Given the description of an element on the screen output the (x, y) to click on. 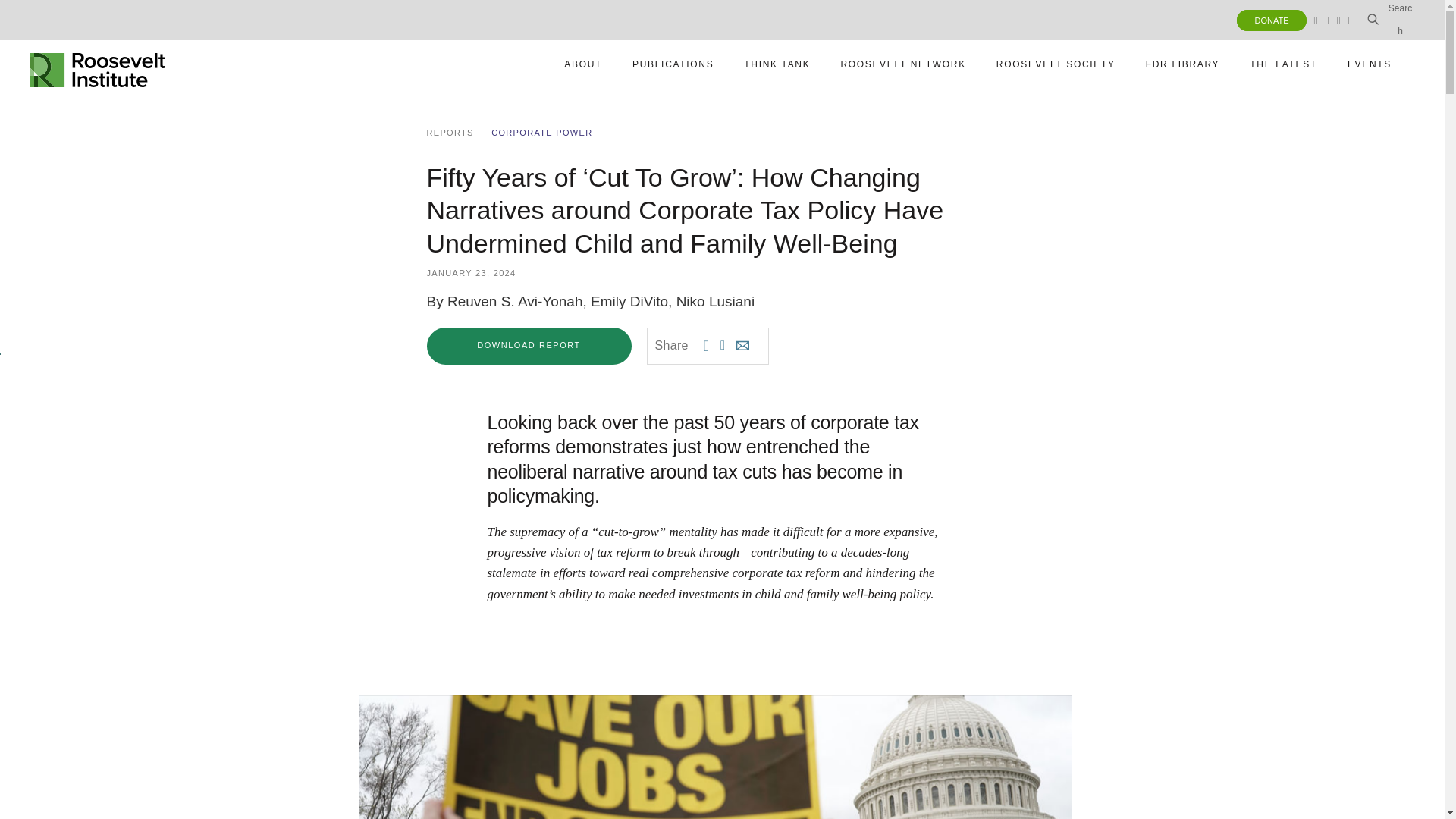
FDR LIBRARY (1390, 20)
DONATE (1182, 64)
ROOSEVELT NETWORK (1271, 20)
PUBLICATIONS (902, 64)
ROOSEVELT SOCIETY (672, 64)
ABOUT (1055, 64)
THINK TANK (583, 64)
THE LATEST (97, 64)
EVENTS (776, 64)
